Given the description of an element on the screen output the (x, y) to click on. 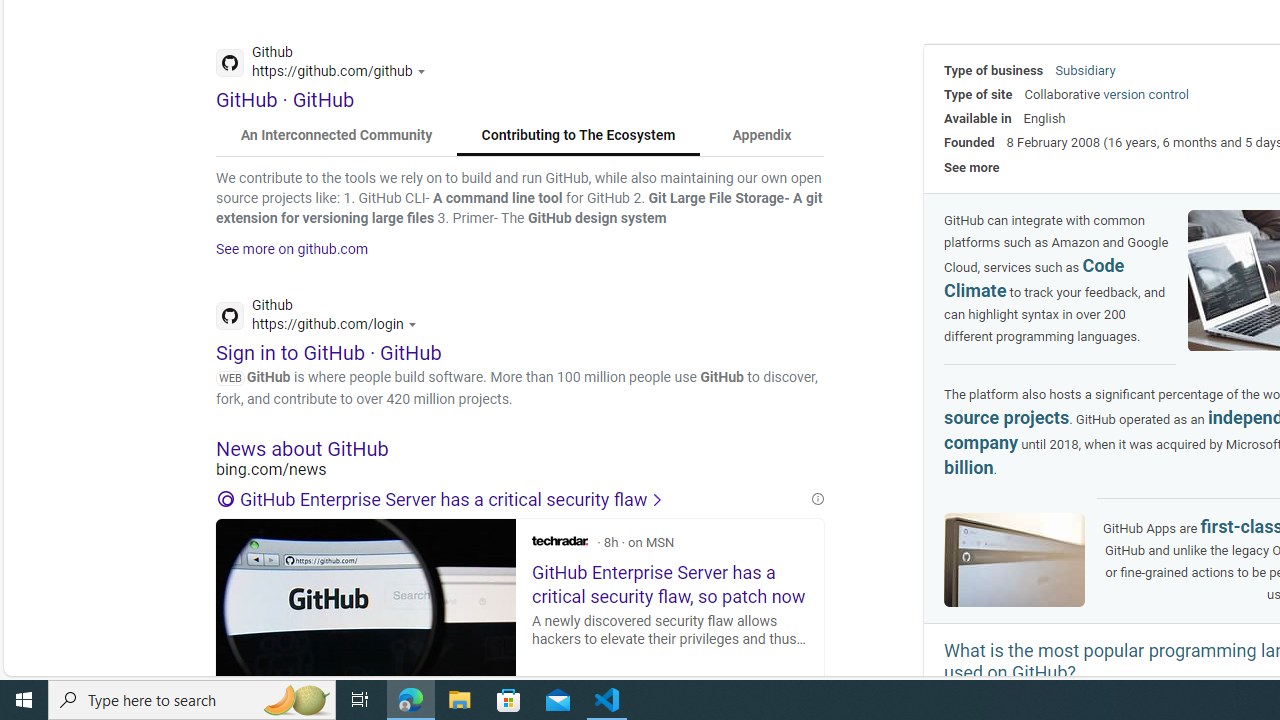
Image of GitHub (1014, 560)
GitHub Enterprise Server has a critical security flaw (511, 499)
Actions for this site (415, 324)
Subsidiary (1085, 70)
News about GitHub (520, 448)
Appendix (761, 135)
See more on github.com (292, 249)
